Given the description of an element on the screen output the (x, y) to click on. 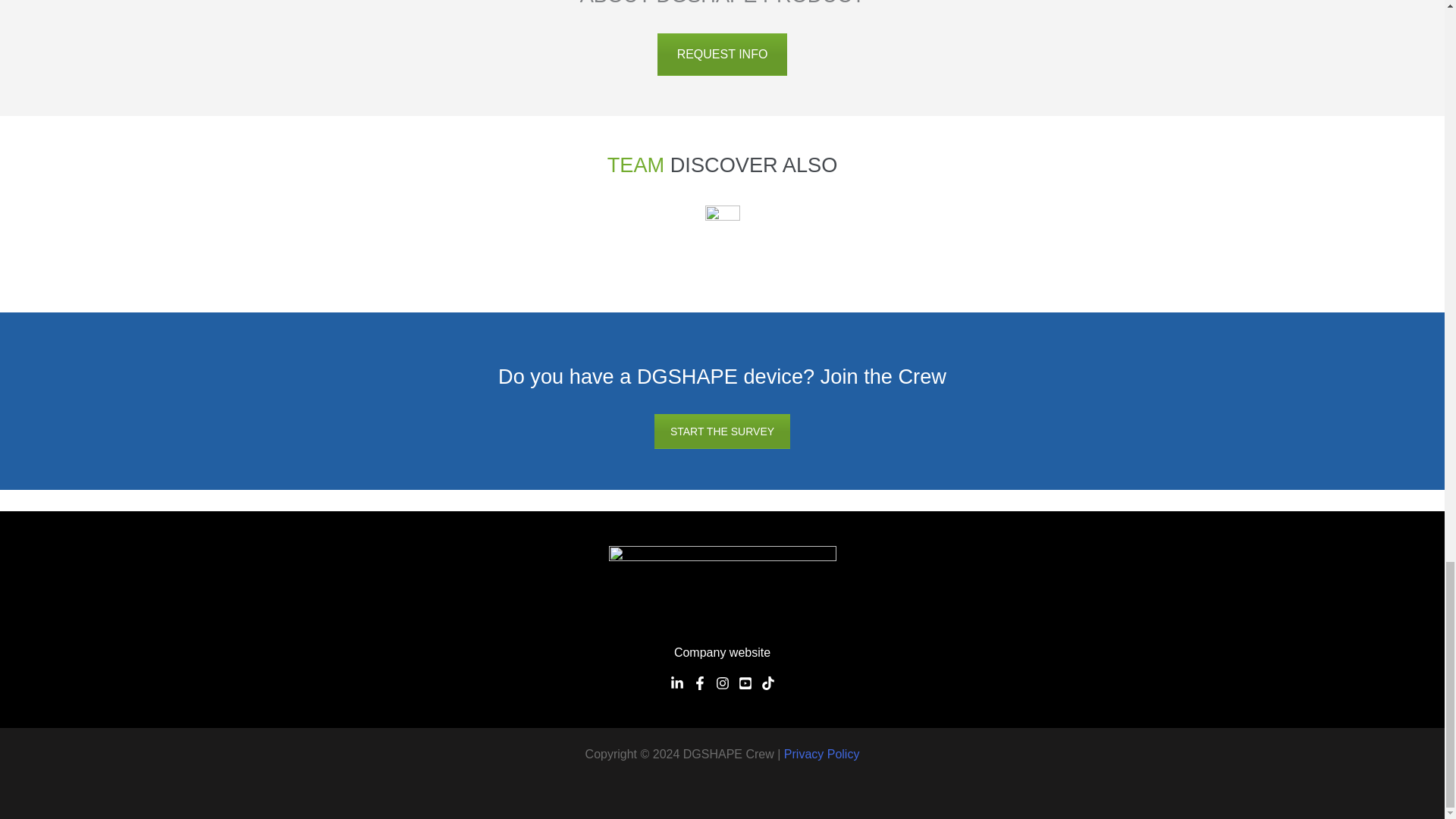
REQUEST INFO (722, 54)
About DGSHAPE product (722, 54)
